Given the description of an element on the screen output the (x, y) to click on. 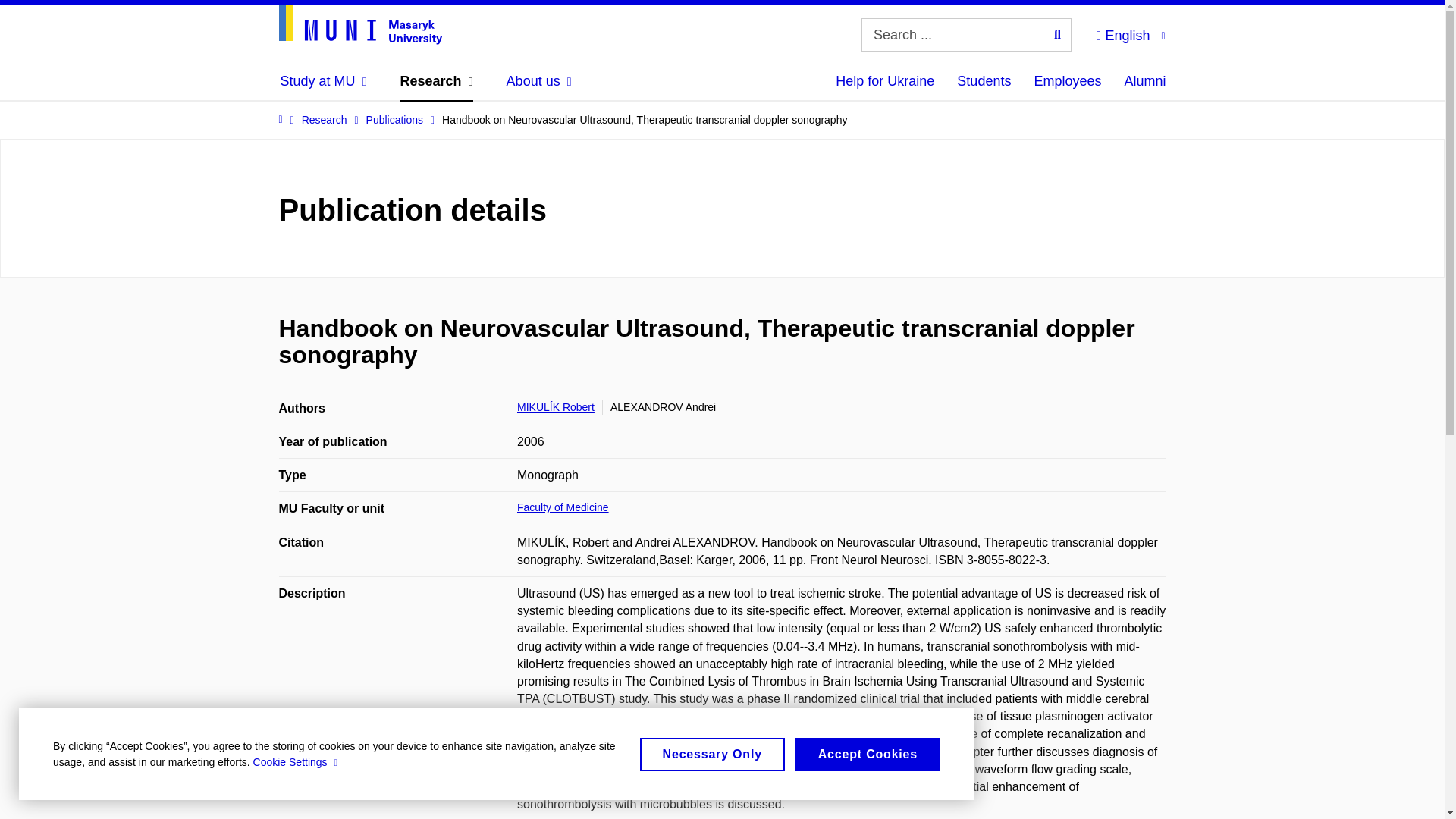
Research (436, 80)
Study at MU (323, 80)
Homepage site (360, 24)
English (1130, 34)
